Given the description of an element on the screen output the (x, y) to click on. 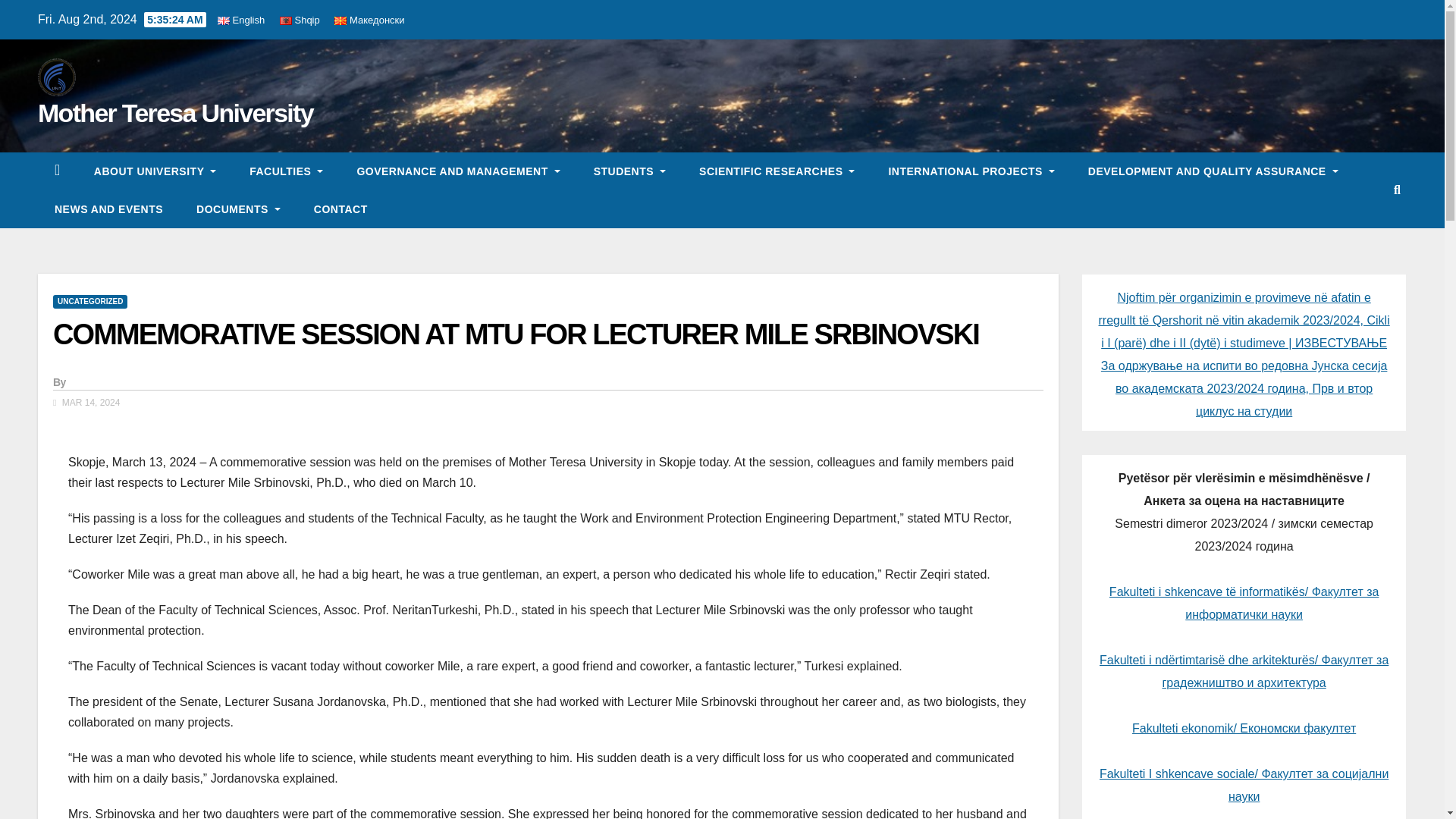
GOVERNANCE AND MANAGEMENT (457, 171)
Faculties (285, 171)
About University (154, 171)
ABOUT UNIVERSITY (154, 171)
STUDENTS (629, 171)
English (240, 19)
FACULTIES (285, 171)
Mother Teresa University (175, 112)
Shqip (299, 19)
